Given the description of an element on the screen output the (x, y) to click on. 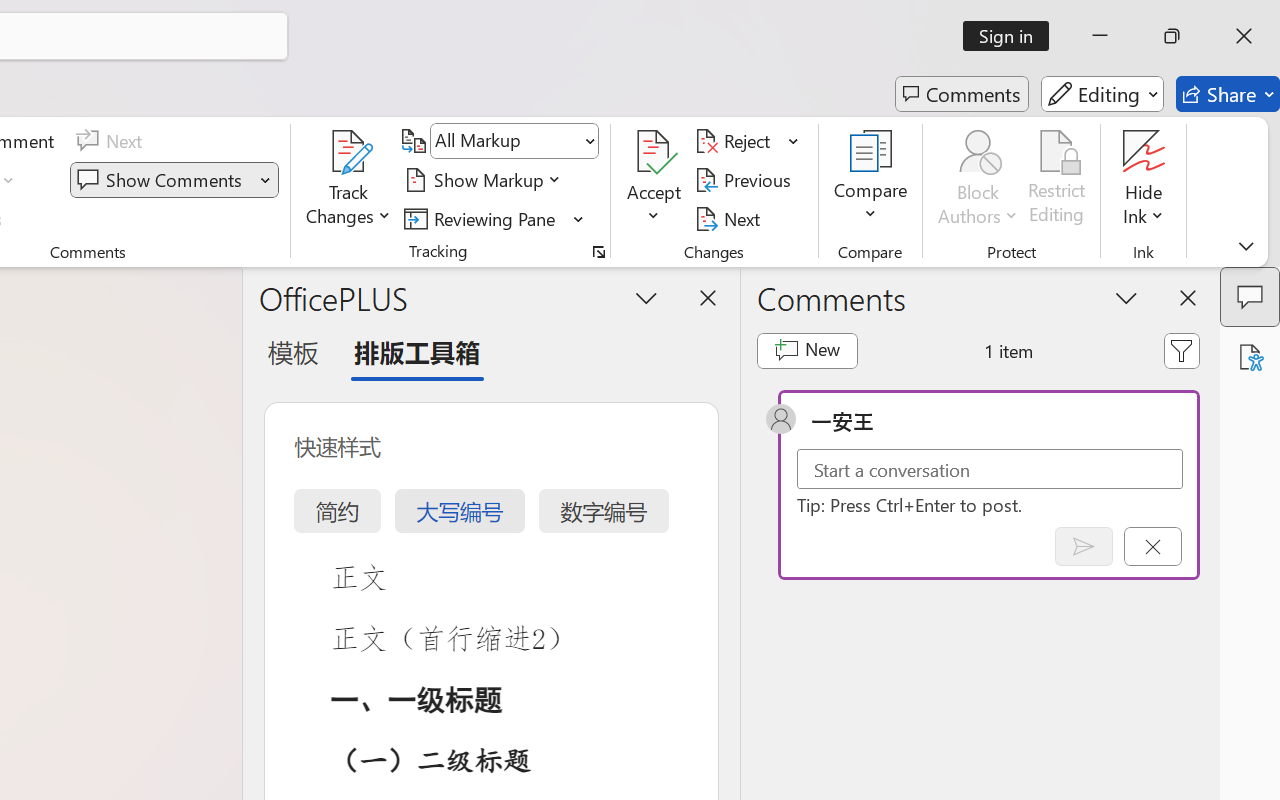
Reject and Move to Next (735, 141)
Show Comments (162, 179)
Block Authors (977, 179)
Track Changes (349, 151)
